Given the description of an element on the screen output the (x, y) to click on. 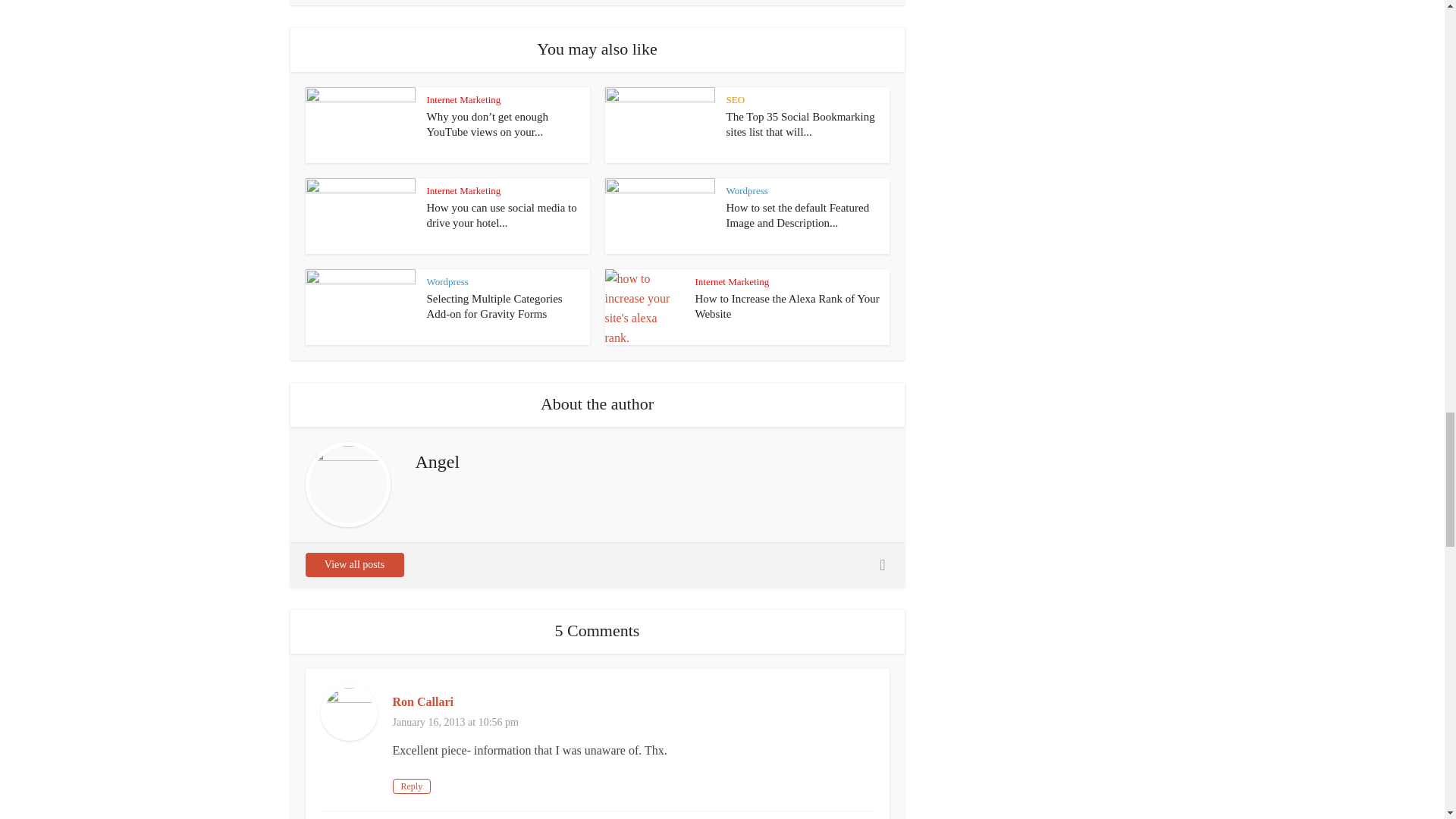
Internet Marketing (463, 99)
How you can use social media to drive your hotel marketing (501, 215)
SEO (735, 99)
The Top 35 Social Bookmarking sites list that will... (800, 124)
